Given the description of an element on the screen output the (x, y) to click on. 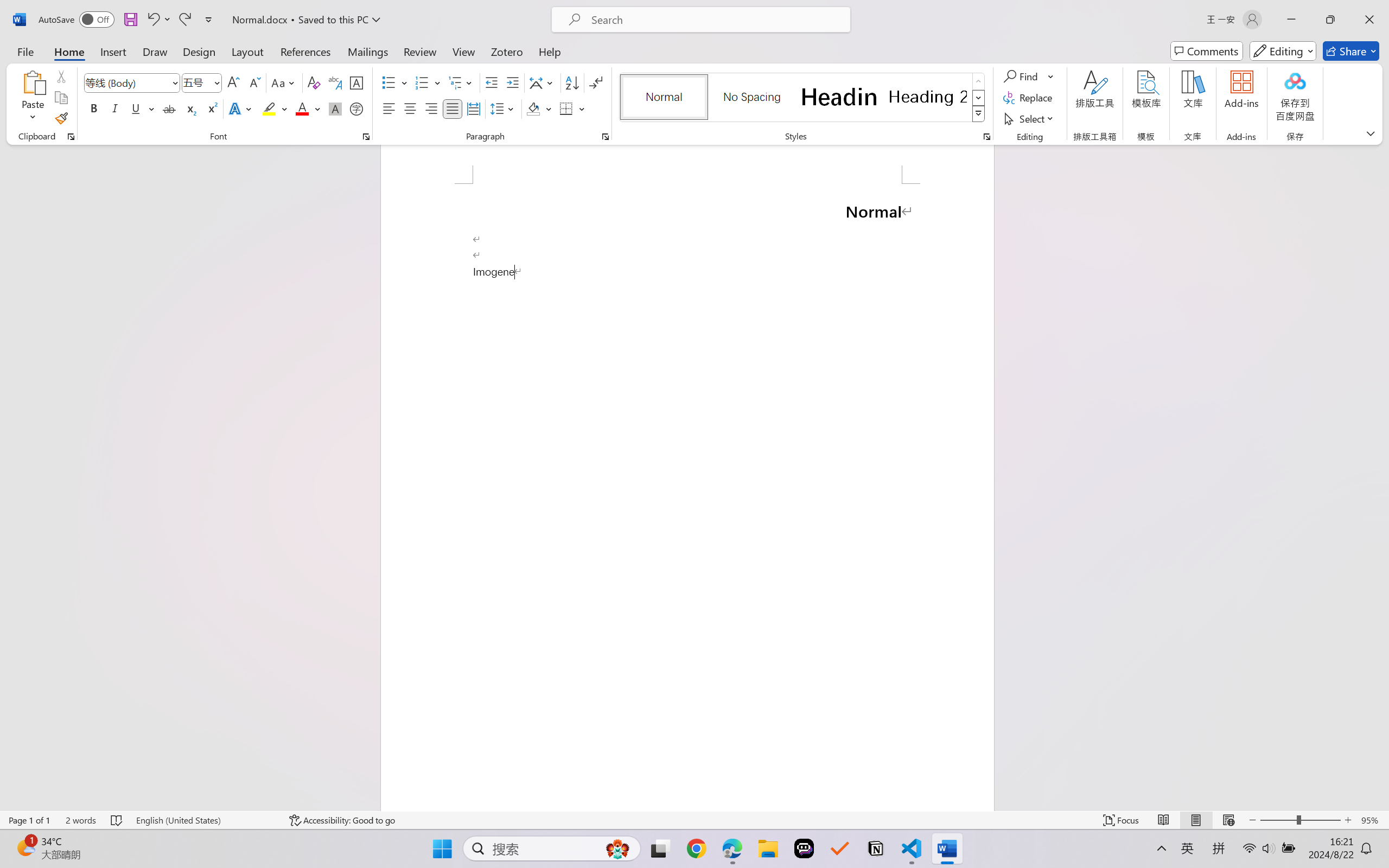
Row up (978, 81)
Multilevel List (461, 82)
Open (215, 82)
Help (549, 51)
Shrink Font (253, 82)
Text Effects and Typography (241, 108)
Styles (978, 113)
Distributed (473, 108)
